Given the description of an element on the screen output the (x, y) to click on. 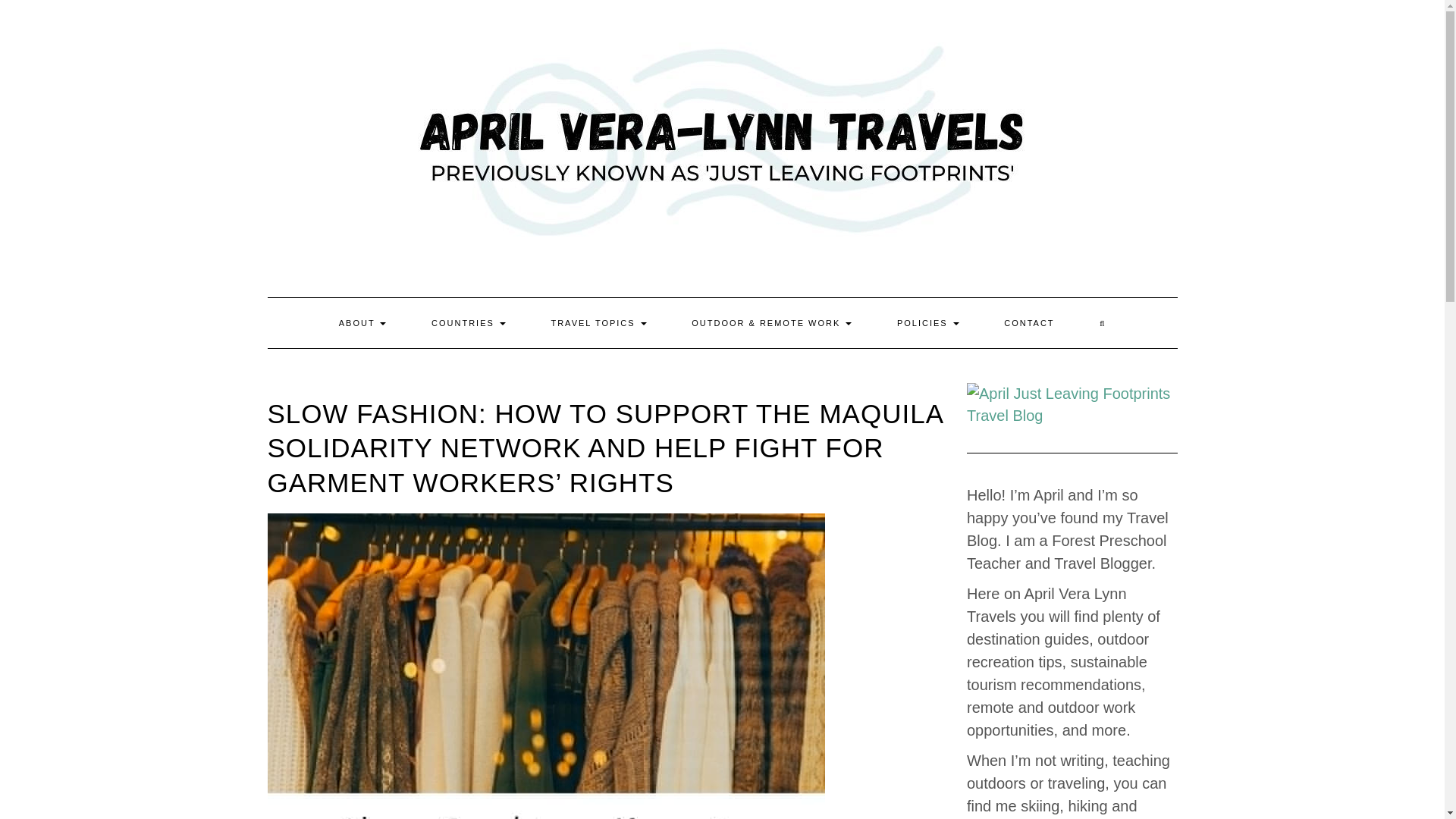
ABOUT (362, 323)
CONTACT (1029, 323)
COUNTRIES (467, 323)
POLICIES (927, 323)
TRAVEL TOPICS (597, 323)
